Given the description of an element on the screen output the (x, y) to click on. 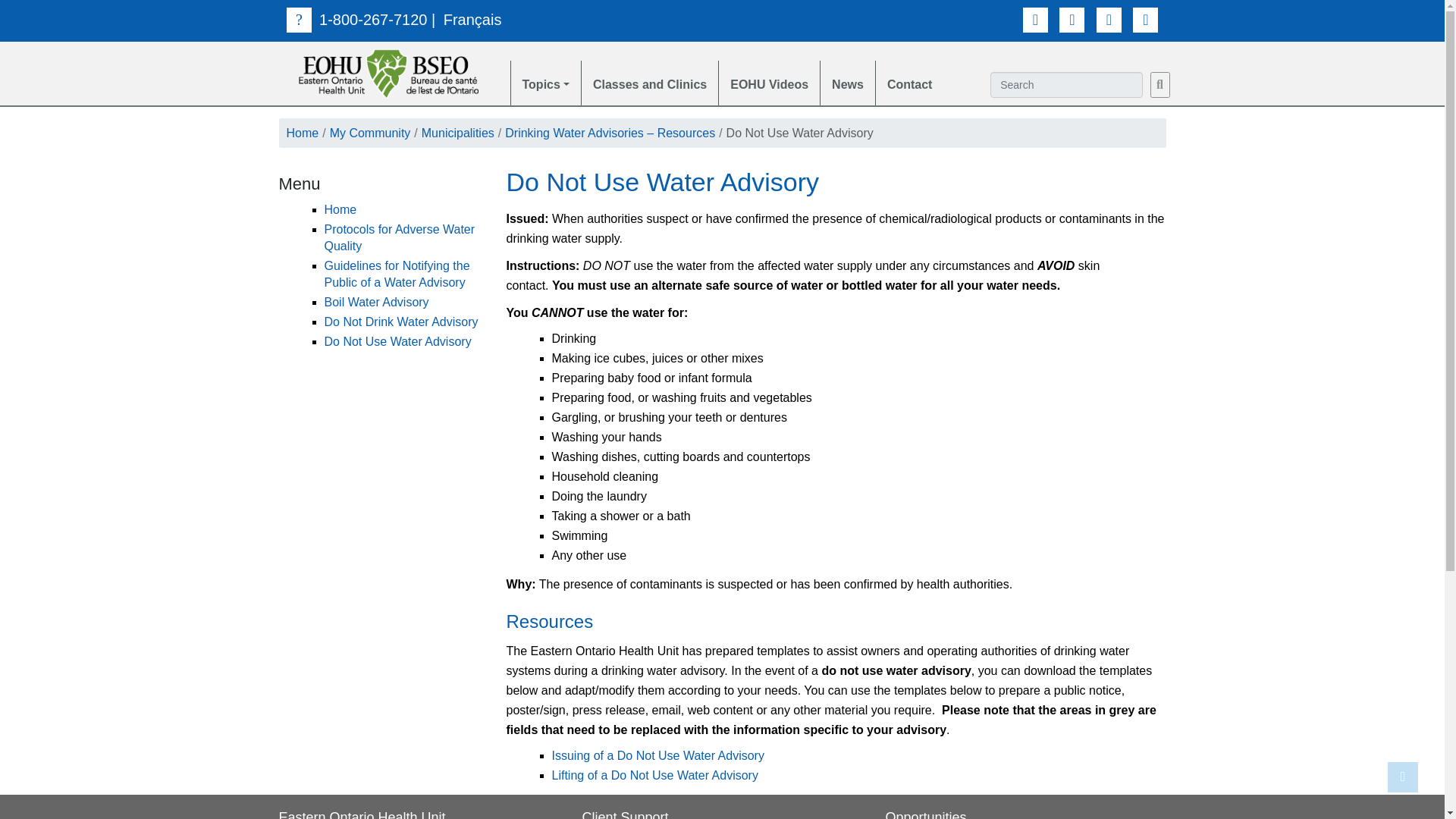
Twitter (1071, 19)
Youtube (1108, 19)
Instagram (1144, 19)
1-800-267-7120 (356, 19)
Facebook (1035, 19)
Opens new wndow (654, 775)
Opens new wndow (657, 755)
Topics (544, 82)
